Given the description of an element on the screen output the (x, y) to click on. 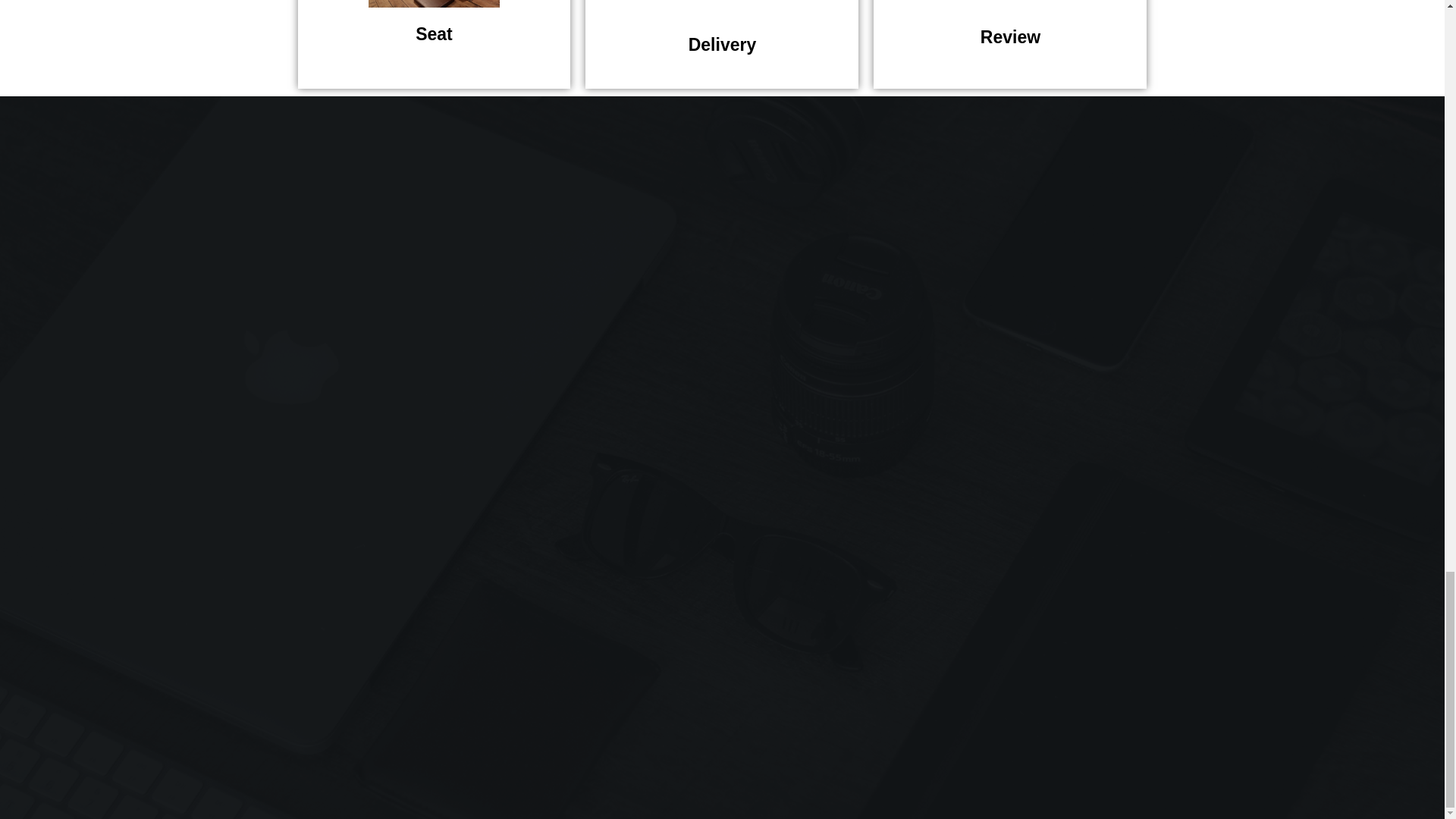
Delivery (722, 44)
Seat (433, 44)
Review (1010, 44)
